Given the description of an element on the screen output the (x, y) to click on. 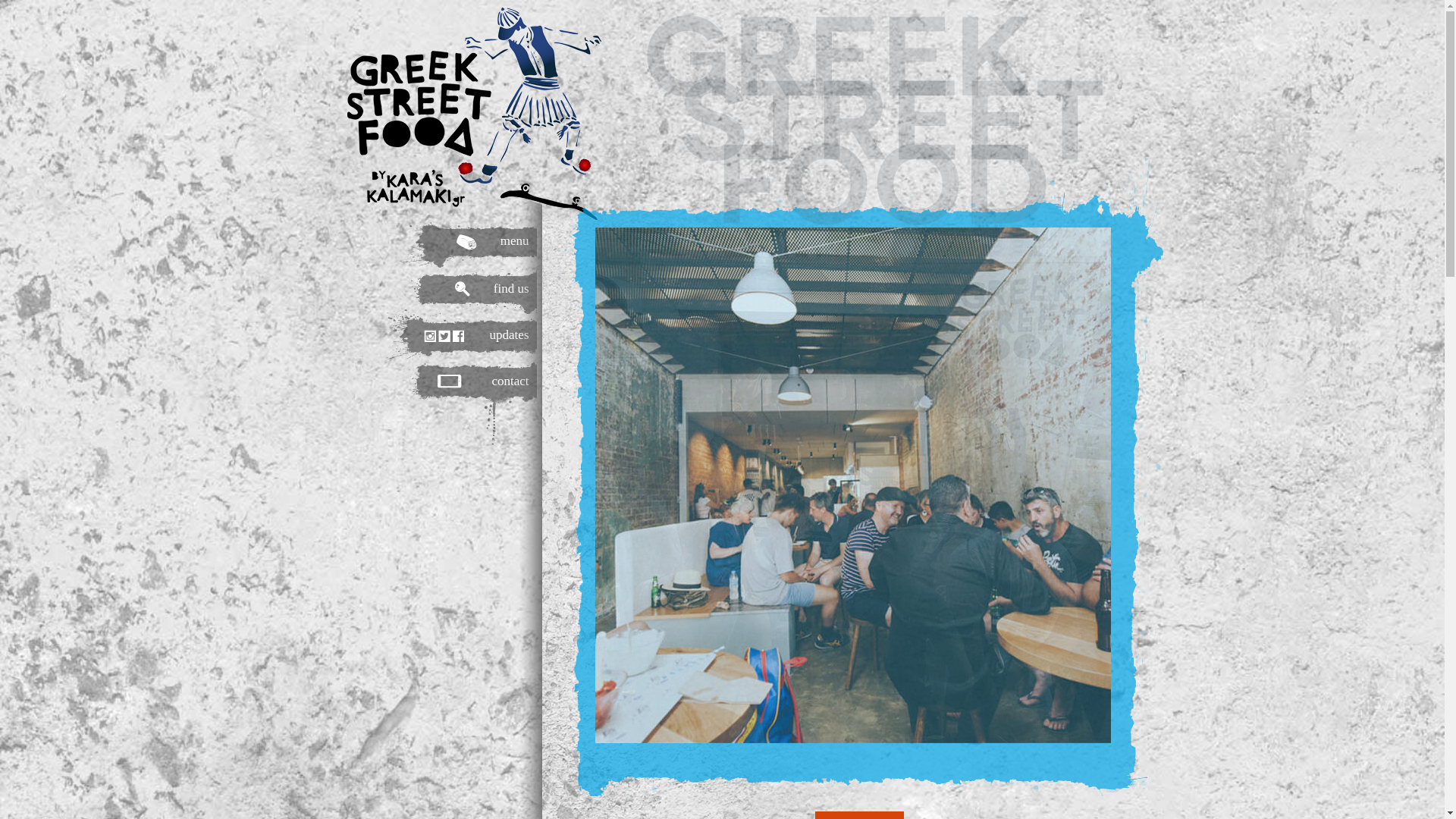
updates Element type: text (437, 334)
contact Element type: text (437, 405)
menu Element type: text (437, 243)
find us Element type: text (437, 291)
